Given the description of an element on the screen output the (x, y) to click on. 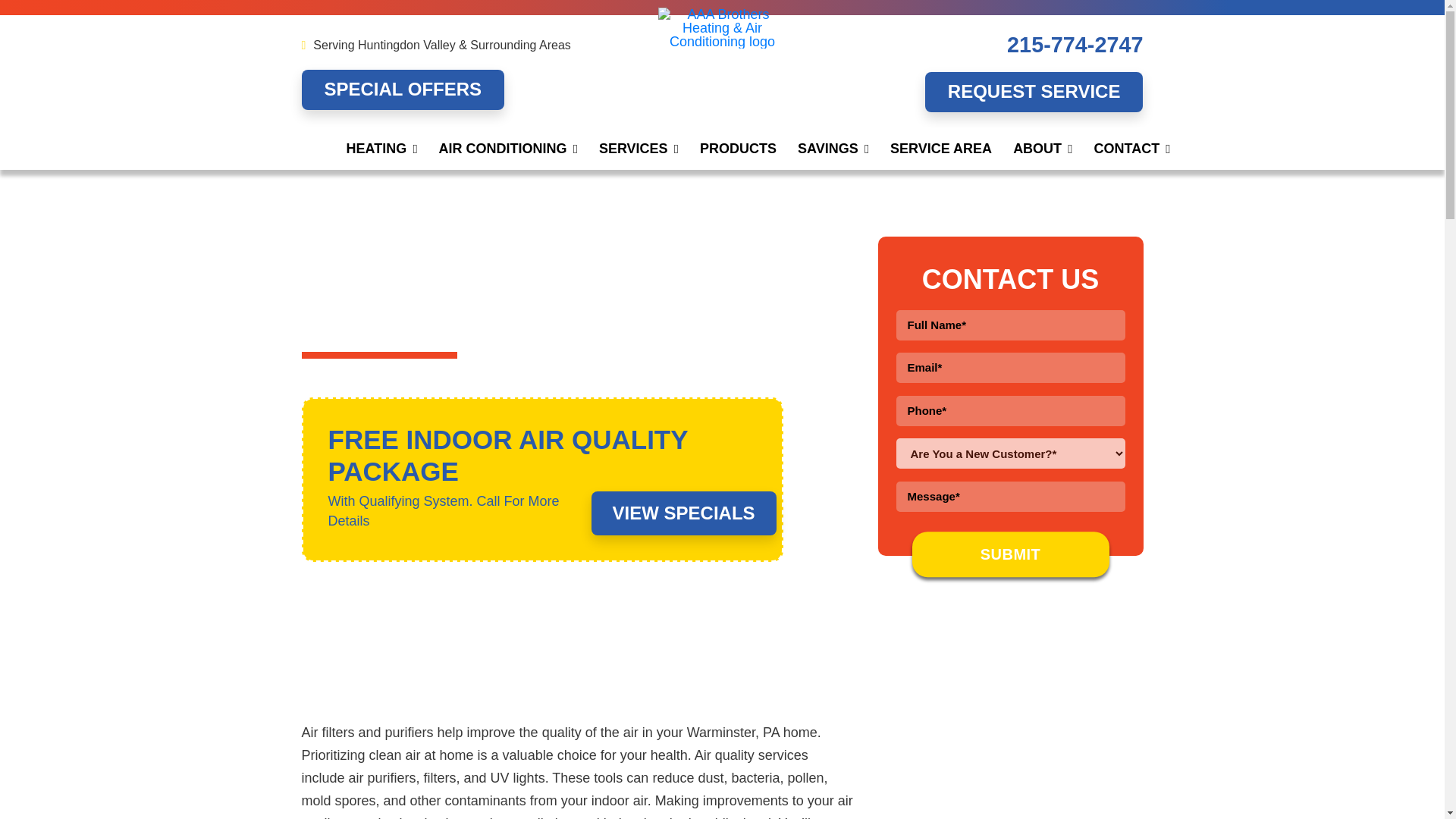
SERVICES (638, 148)
REQUEST SERVICE (1033, 92)
CONTACT (1131, 148)
SPECIAL OFFERS (403, 89)
SERVICE AREA (941, 148)
Submit (1009, 554)
215-774-2747 (1074, 44)
PRODUCTS (737, 148)
SAVINGS (833, 148)
ABOUT (1043, 148)
HEATING (381, 148)
VIEW SPECIALS (683, 513)
Submit (1009, 554)
AIR CONDITIONING (508, 148)
